Given the description of an element on the screen output the (x, y) to click on. 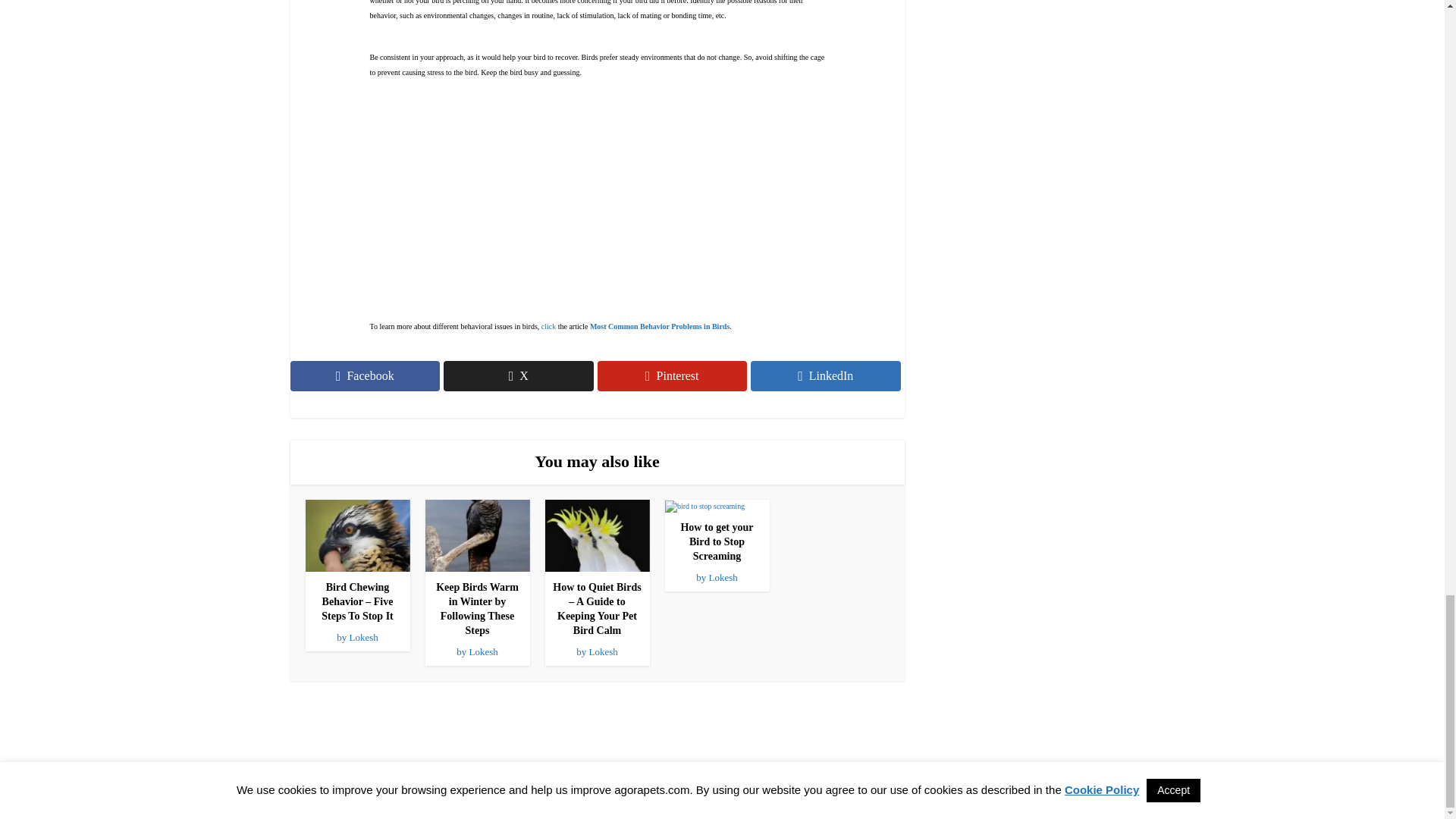
Keep Birds Warm in Winter by Following These Steps (477, 534)
Keep Birds Warm in Winter by Following These Steps (476, 608)
How to get your Bird to Stop Screaming (703, 505)
